Given the description of an element on the screen output the (x, y) to click on. 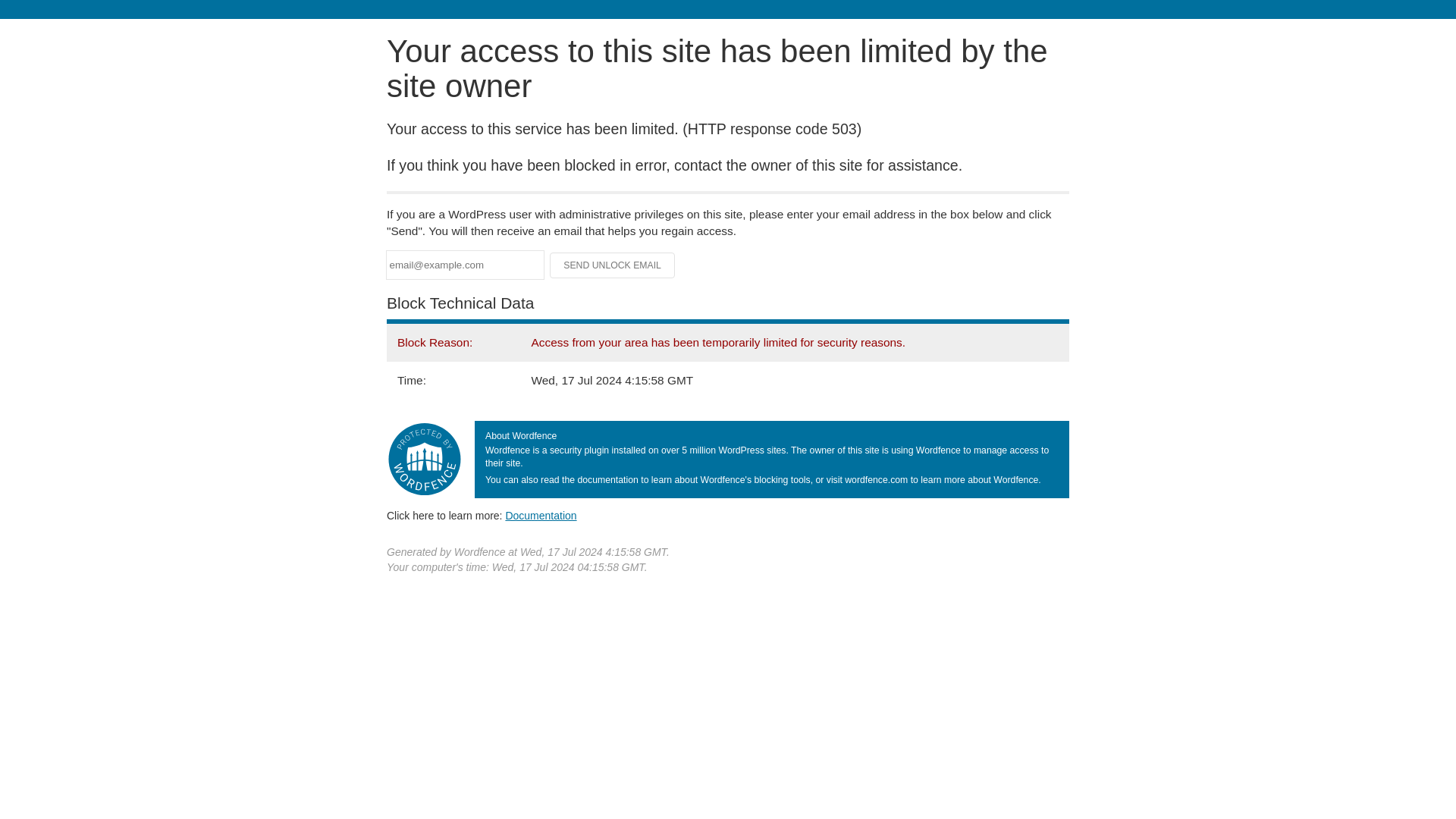
Send Unlock Email (612, 265)
Documentation (540, 515)
Send Unlock Email (612, 265)
